Given the description of an element on the screen output the (x, y) to click on. 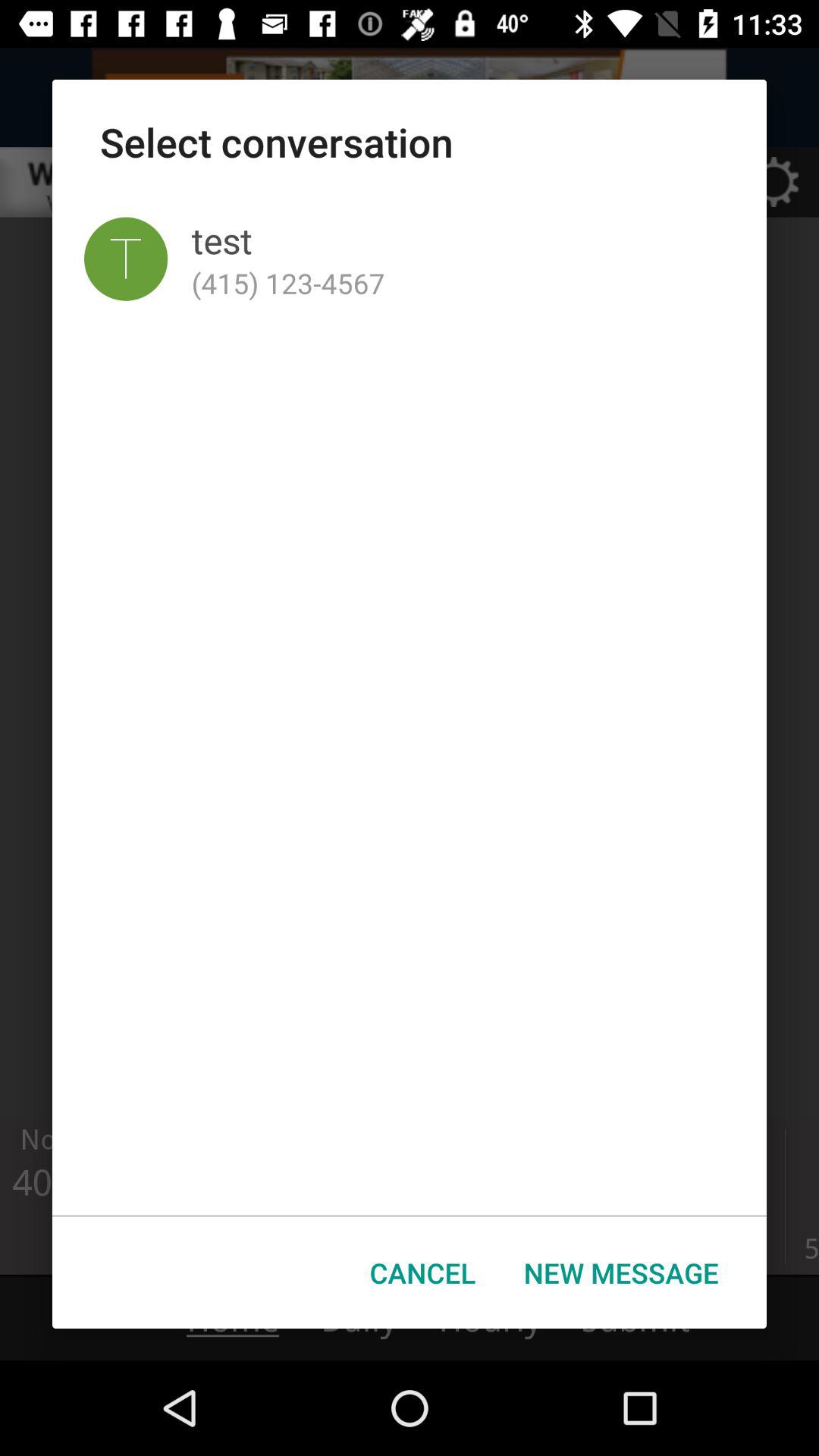
turn off the icon below the select conversation (125, 258)
